Given the description of an element on the screen output the (x, y) to click on. 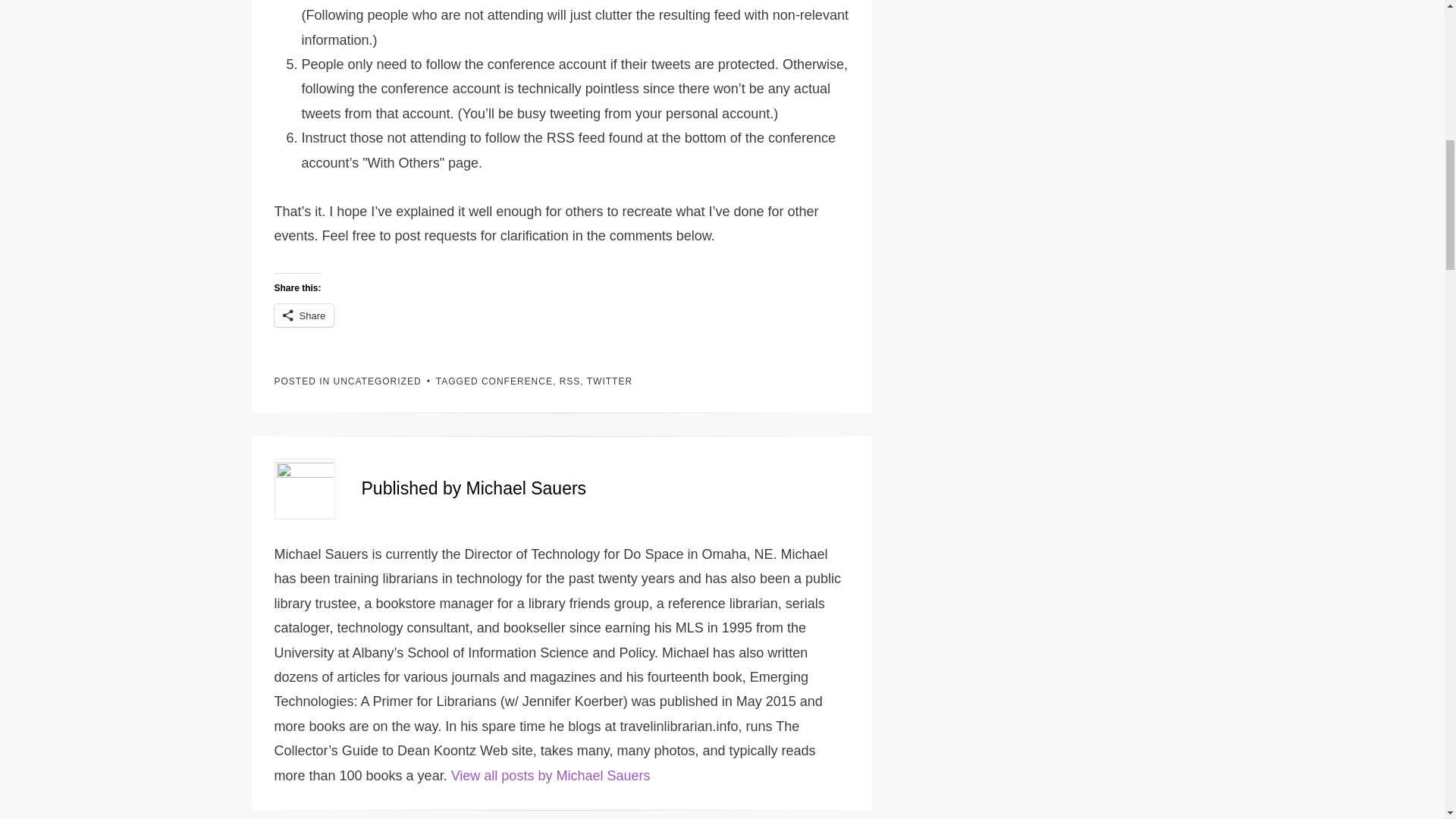
View all posts by Michael Sauers (550, 775)
Share (304, 314)
CONFERENCE (517, 380)
RSS (569, 380)
TWITTER (608, 380)
